Given the description of an element on the screen output the (x, y) to click on. 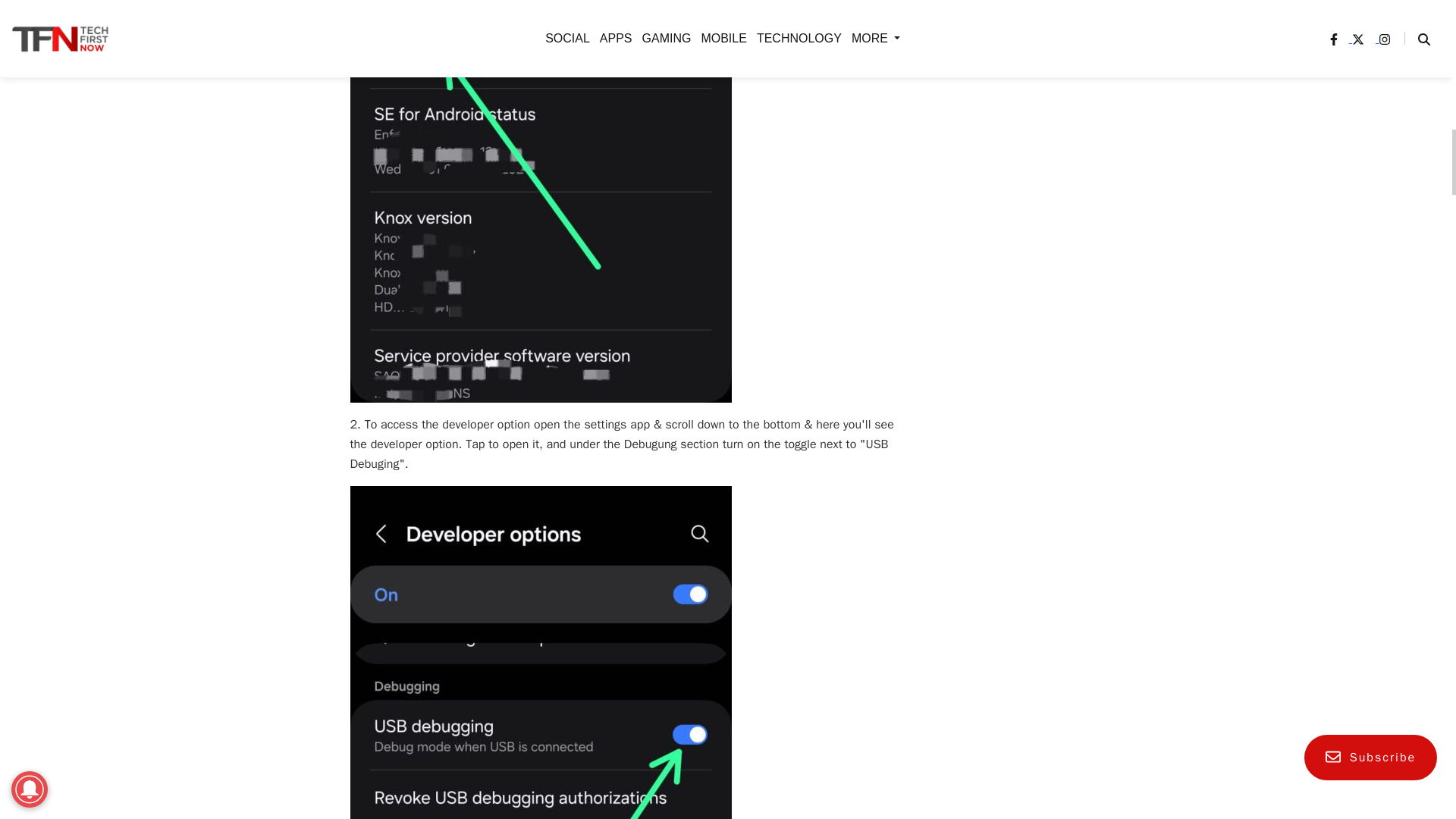
publive-image (541, 652)
